Given the description of an element on the screen output the (x, y) to click on. 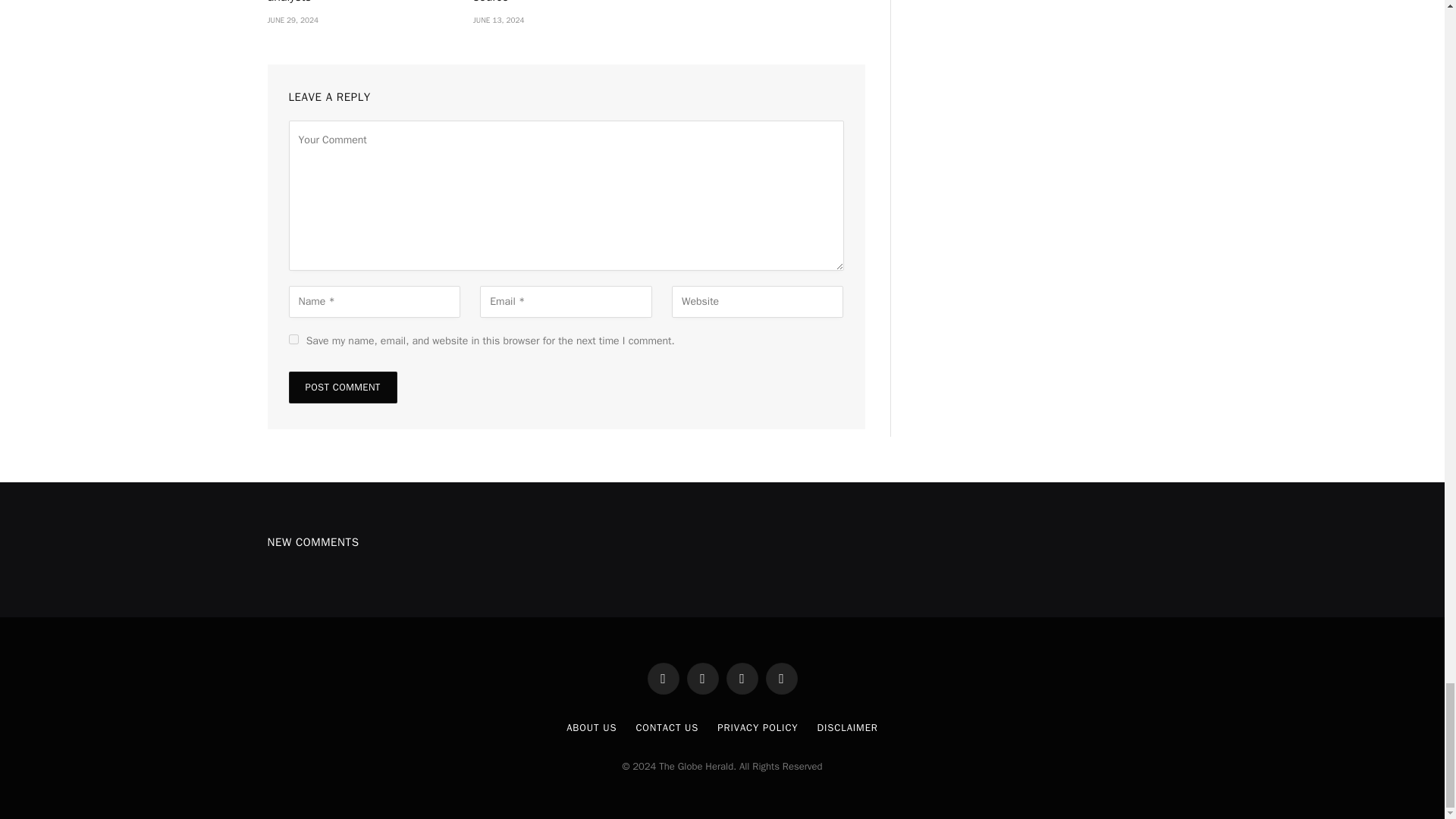
yes (293, 338)
Post Comment (342, 387)
